Given the description of an element on the screen output the (x, y) to click on. 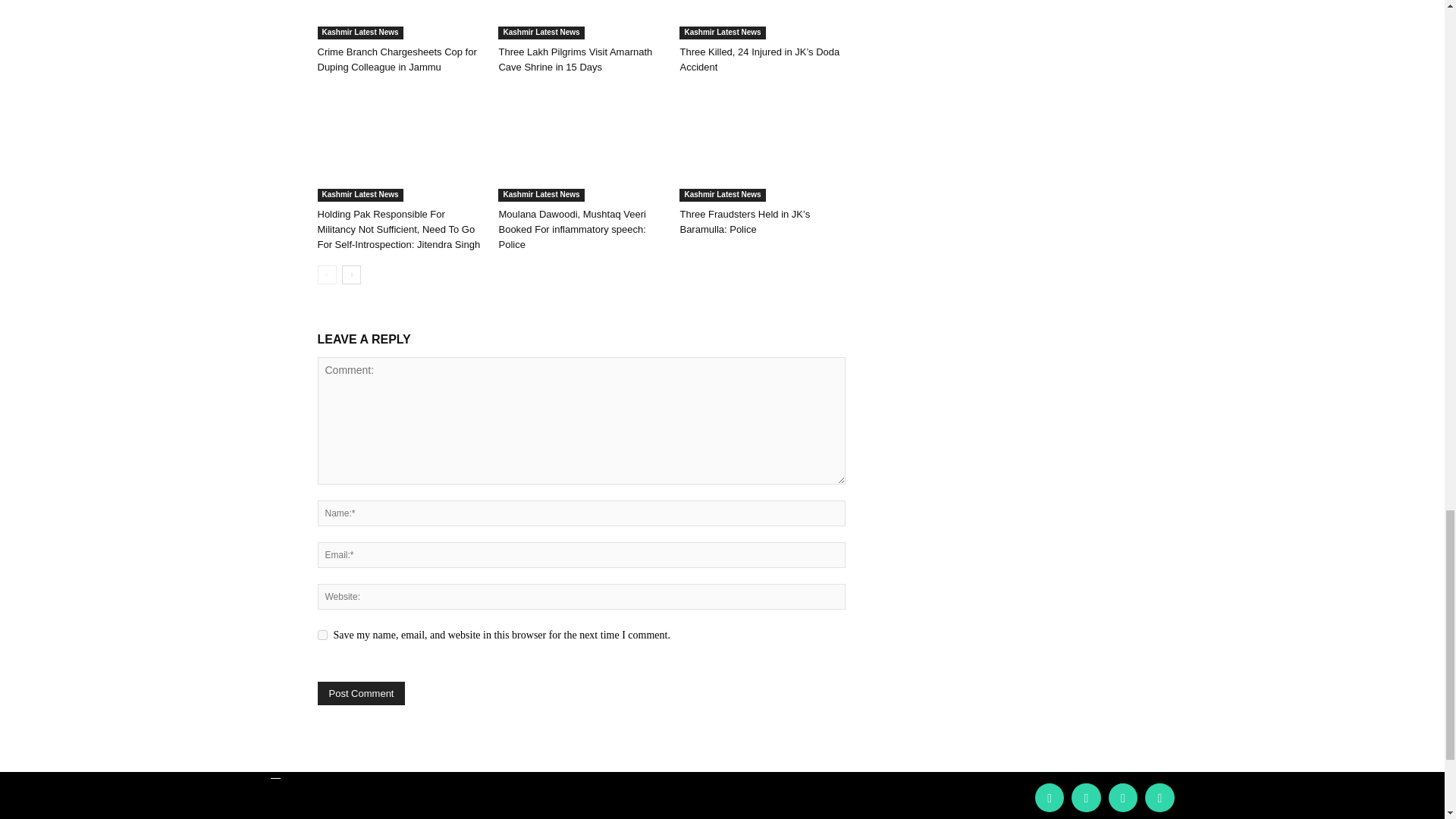
Post Comment (360, 693)
yes (321, 634)
